Given the description of an element on the screen output the (x, y) to click on. 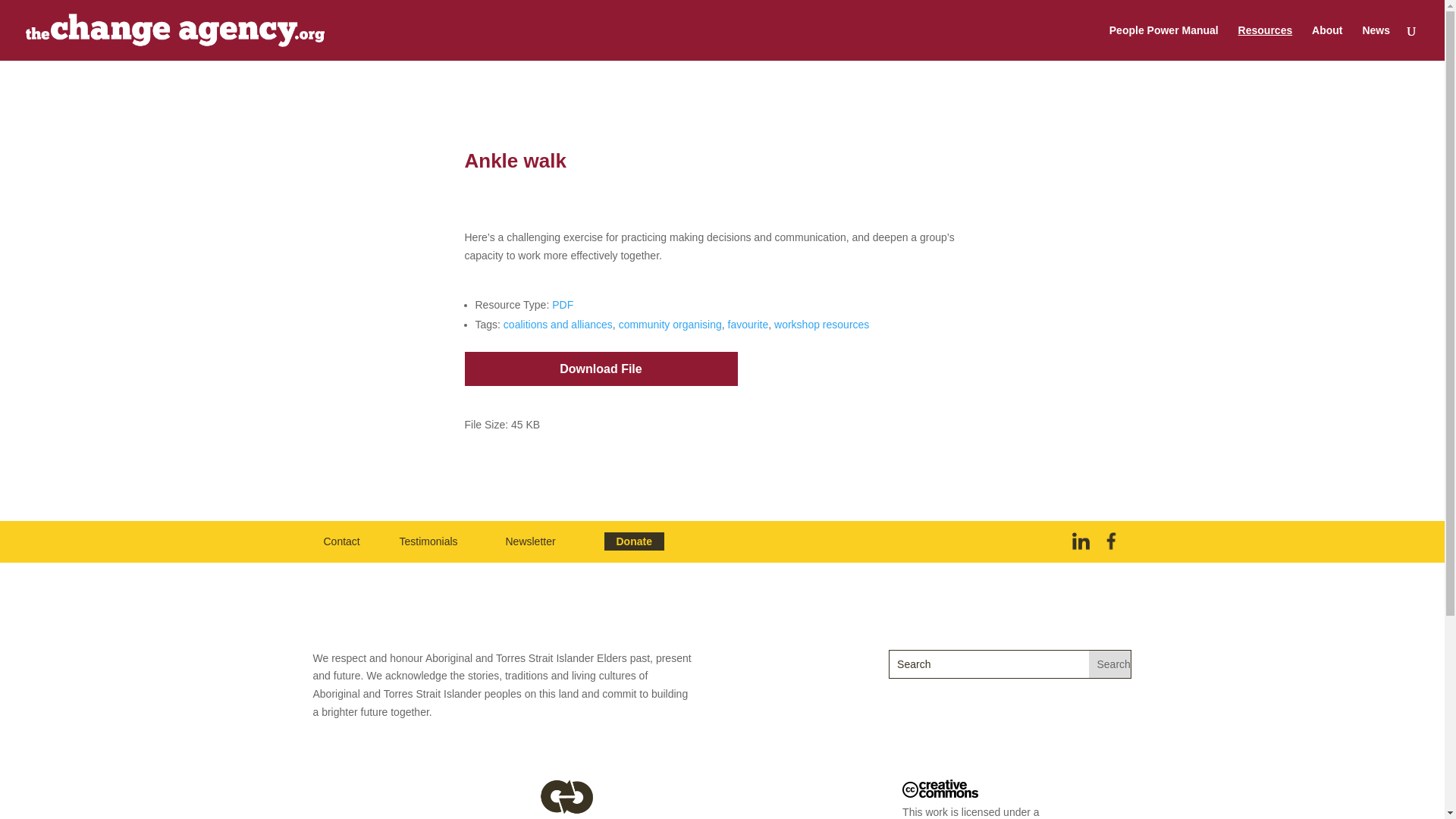
Resources (1265, 42)
Contact (341, 541)
workshop resources (821, 324)
TCA-desktop-footer (574, 799)
Donate (633, 541)
coalitions and alliances (557, 324)
Search (1110, 664)
Testimonials (427, 541)
PDF (562, 304)
Search (1110, 664)
